Given the description of an element on the screen output the (x, y) to click on. 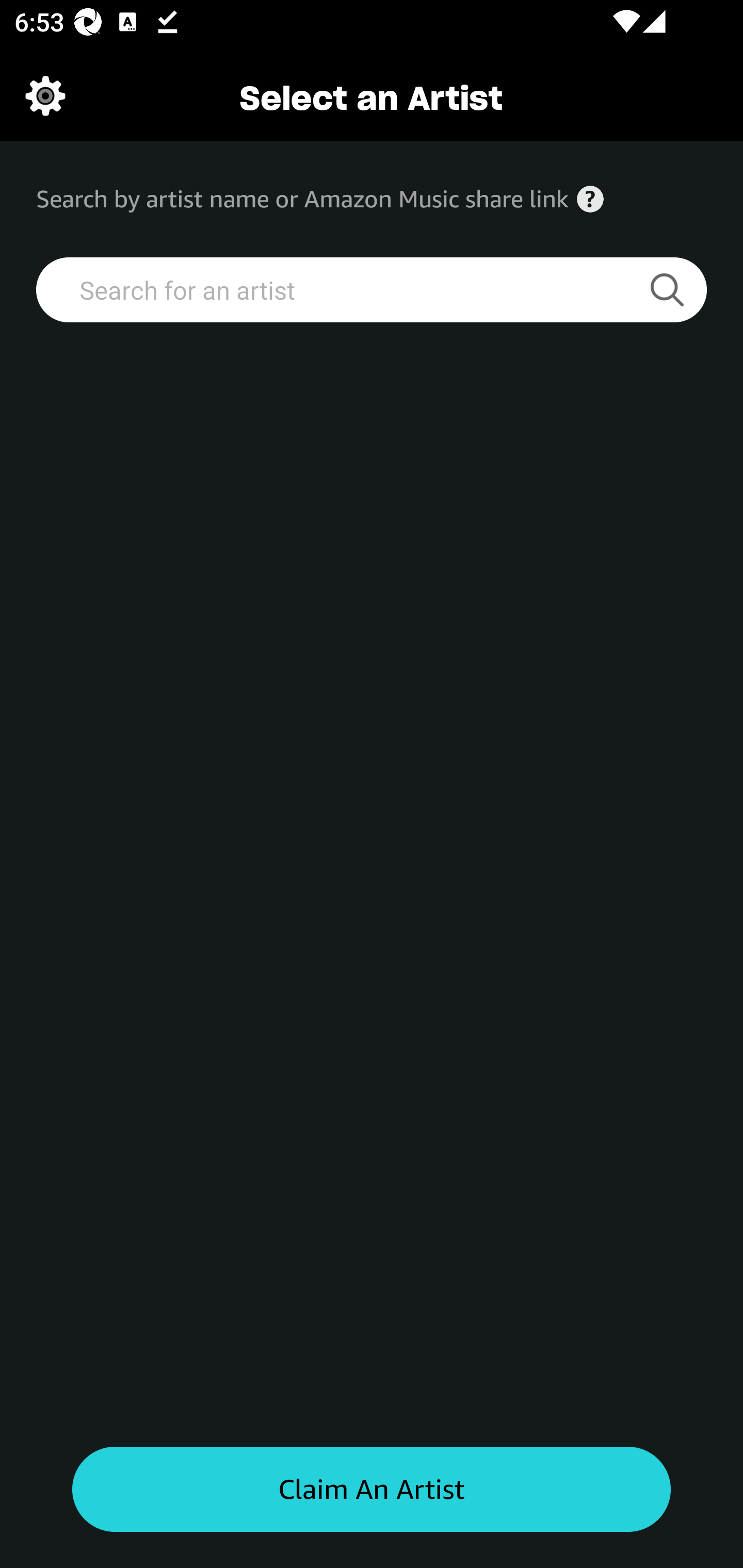
Help  icon (589, 199)
Claim an artist button Claim An Artist (371, 1489)
